Given the description of an element on the screen output the (x, y) to click on. 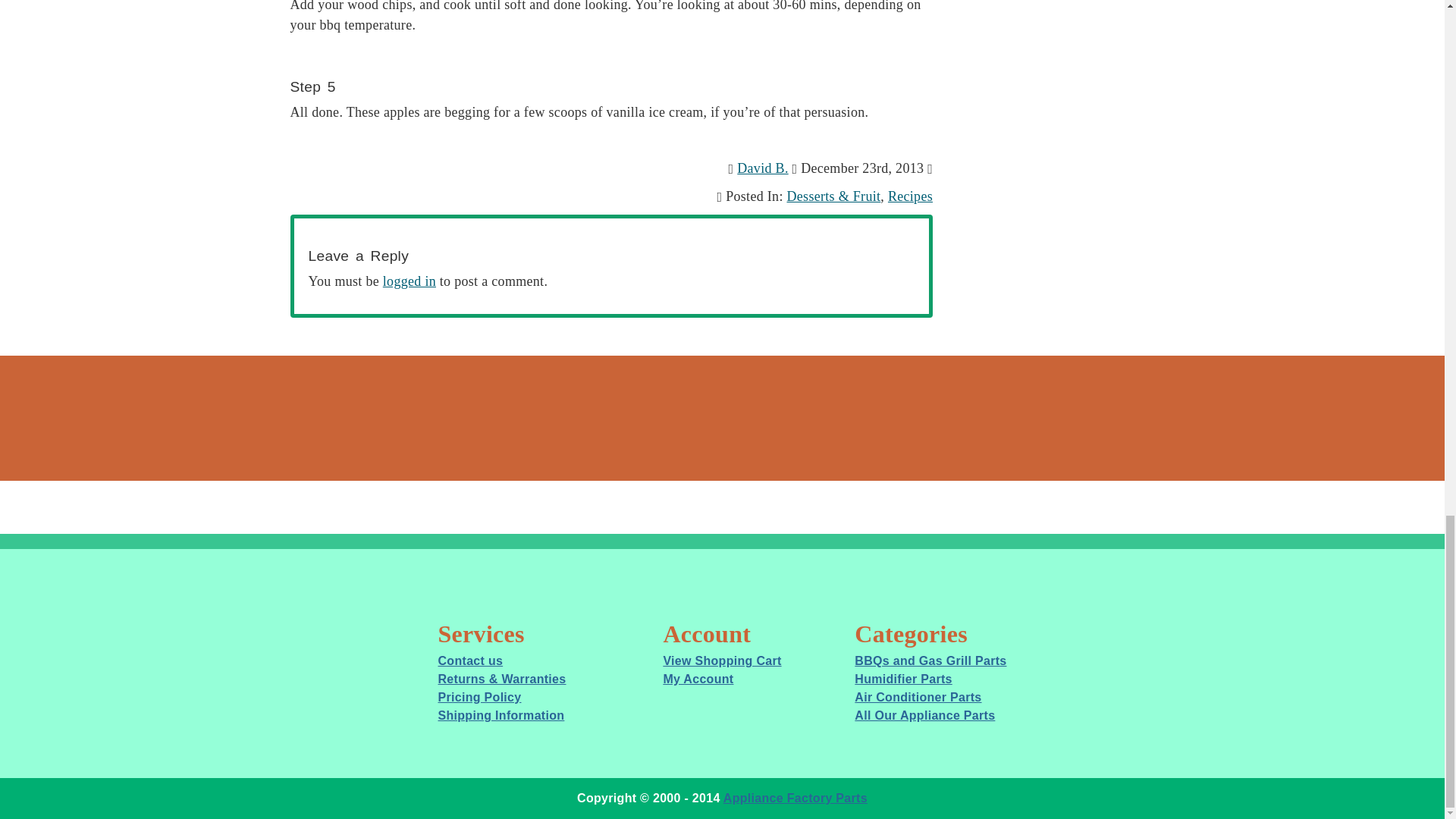
Posts by David B. (761, 168)
logged in (408, 281)
David B. (761, 168)
Recipes (910, 196)
